Given the description of an element on the screen output the (x, y) to click on. 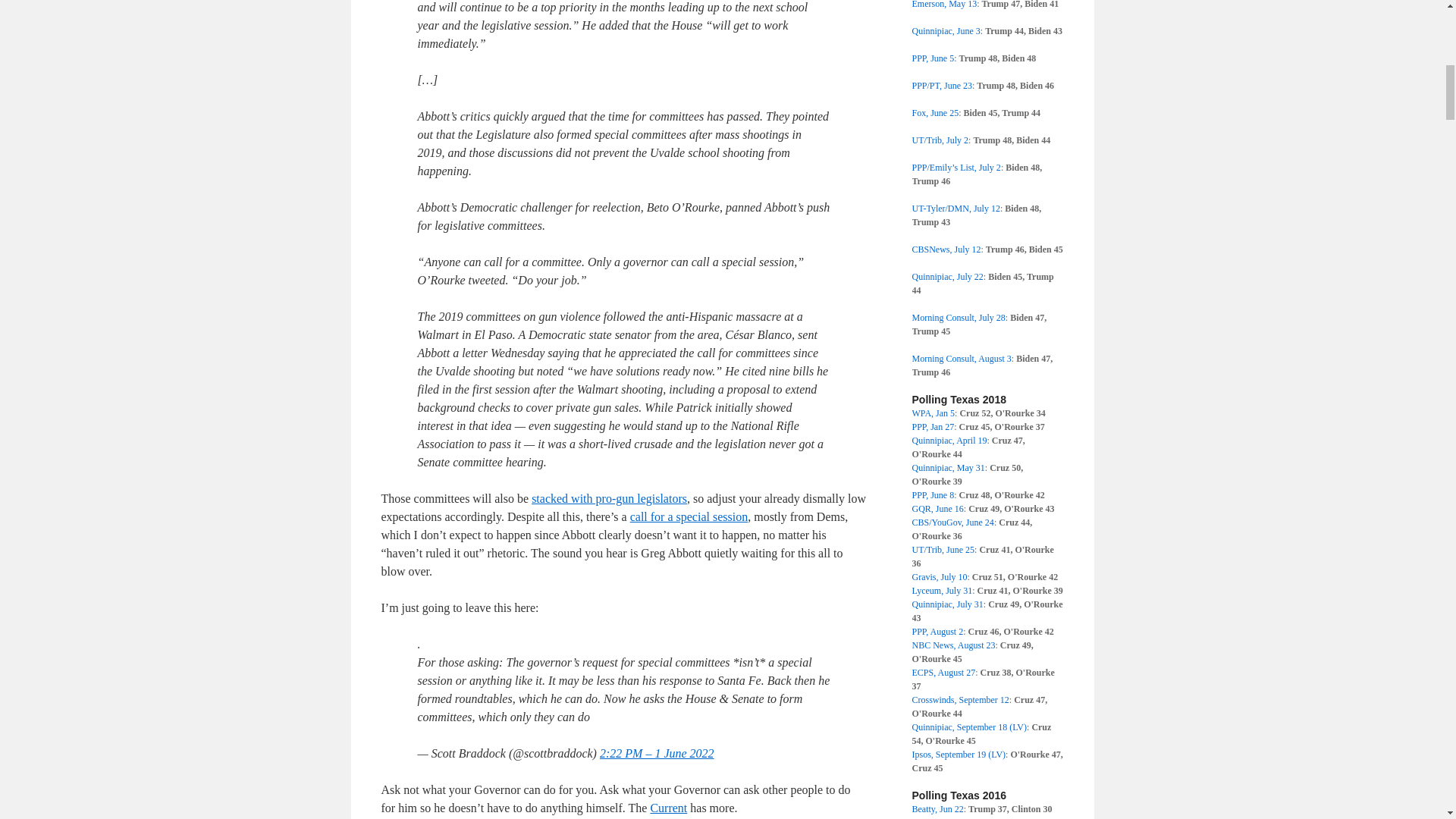
Current (668, 807)
call for a special session (689, 516)
stacked with pro-gun legislators (609, 498)
